Given the description of an element on the screen output the (x, y) to click on. 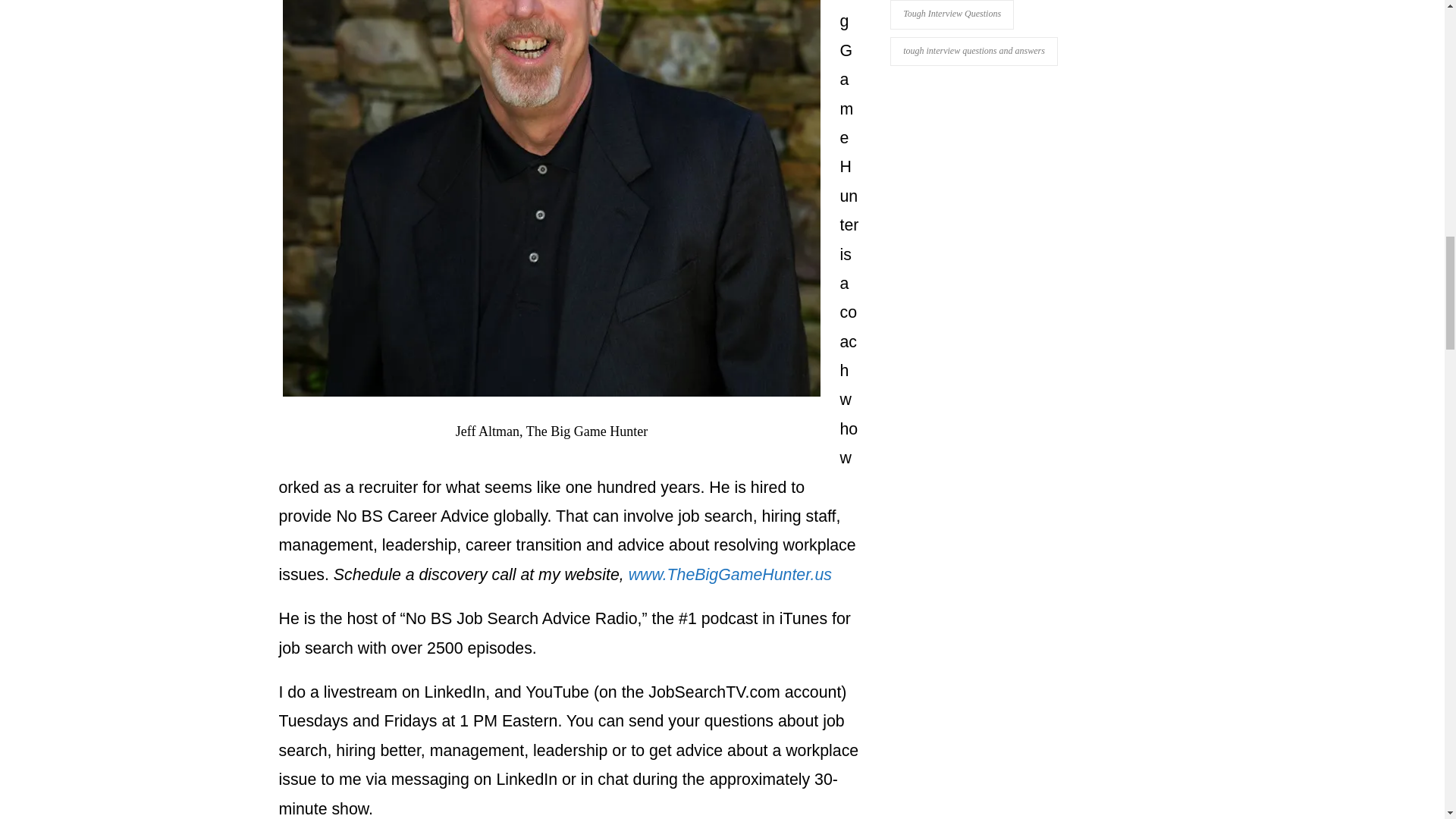
www.TheBigGameHunter.us (729, 574)
